Given the description of an element on the screen output the (x, y) to click on. 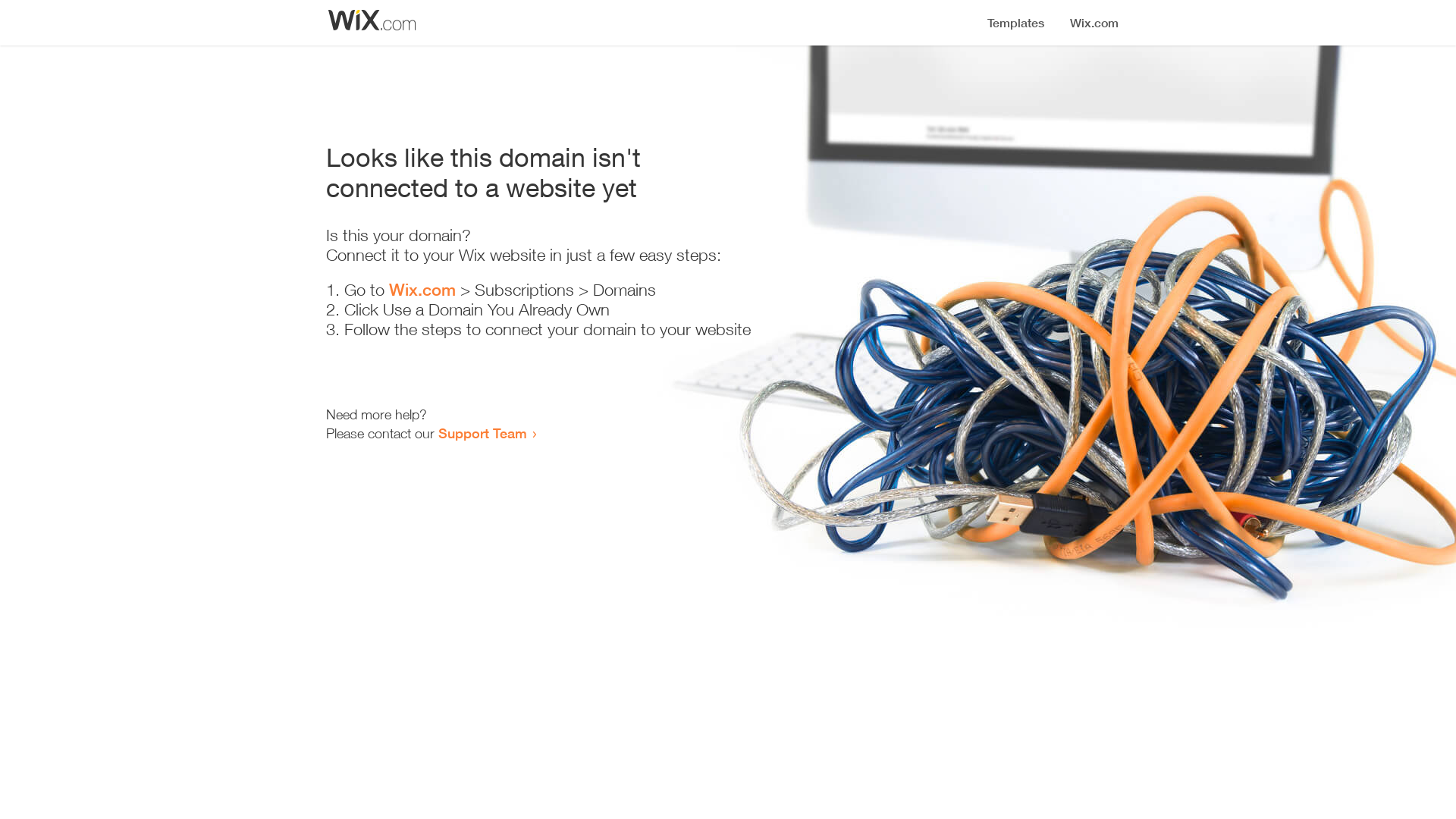
Wix.com Element type: text (422, 289)
Support Team Element type: text (482, 432)
